Given the description of an element on the screen output the (x, y) to click on. 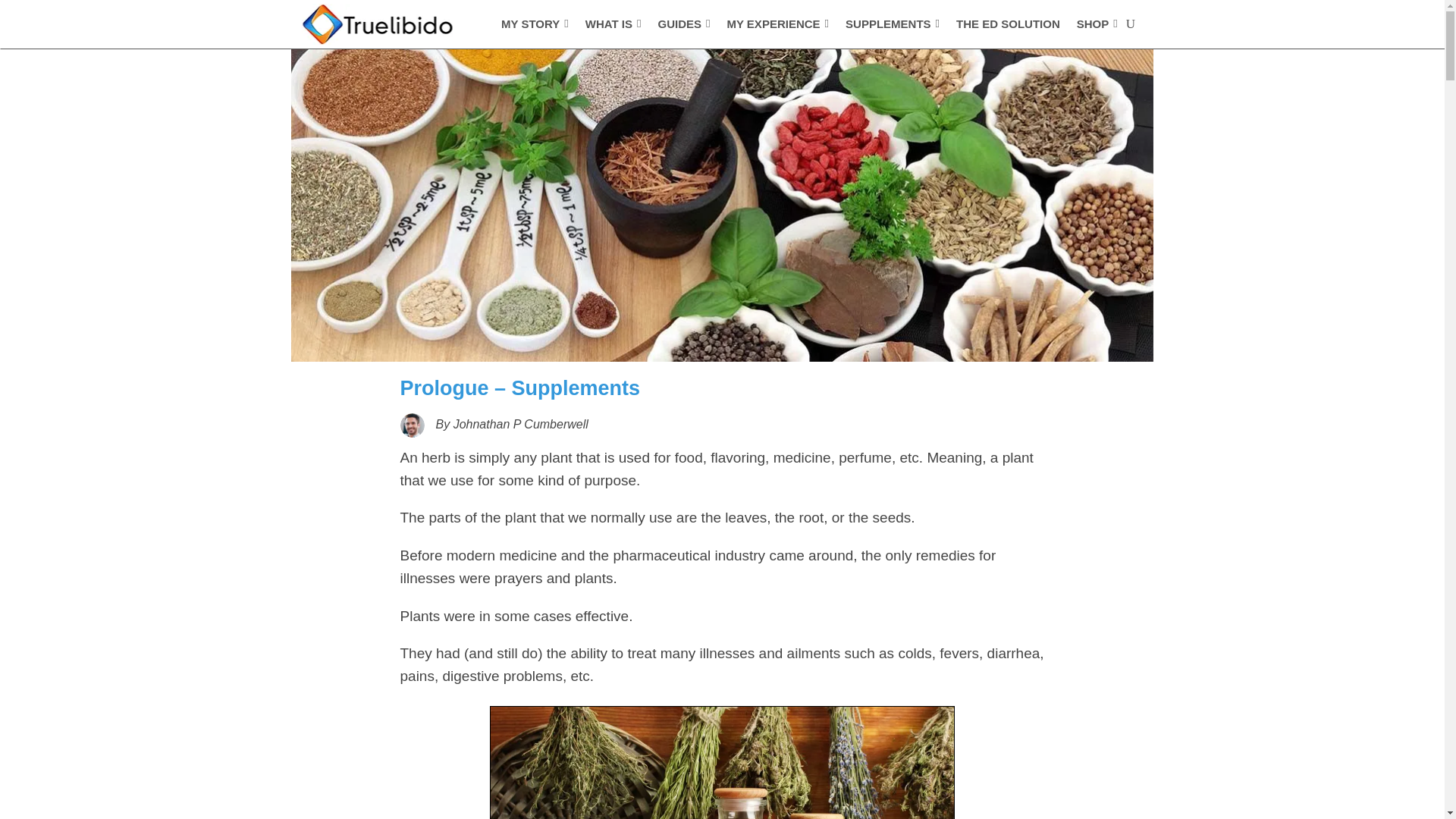
herbs can treat many illnesses and ailments (722, 762)
GUIDES (684, 24)
MY STORY (534, 24)
SUPPLEMENTS (892, 24)
WHAT IS (613, 24)
MY EXPERIENCE (777, 24)
